Given the description of an element on the screen output the (x, y) to click on. 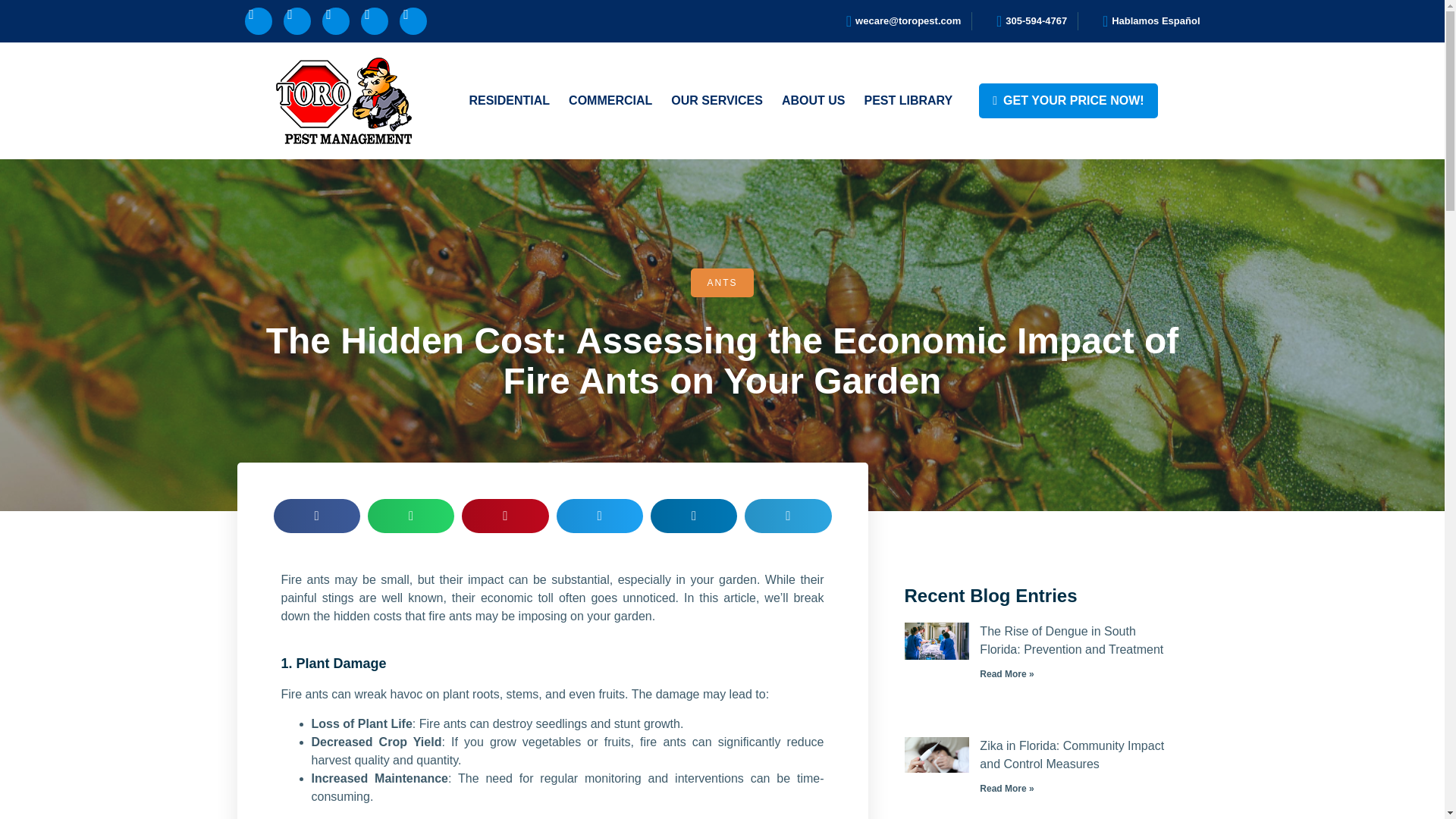
ABOUT US (813, 100)
COMMERCIAL (604, 100)
PEST LIBRARY (907, 100)
OUR SERVICES (711, 100)
RESIDENTIAL (503, 100)
